Given the description of an element on the screen output the (x, y) to click on. 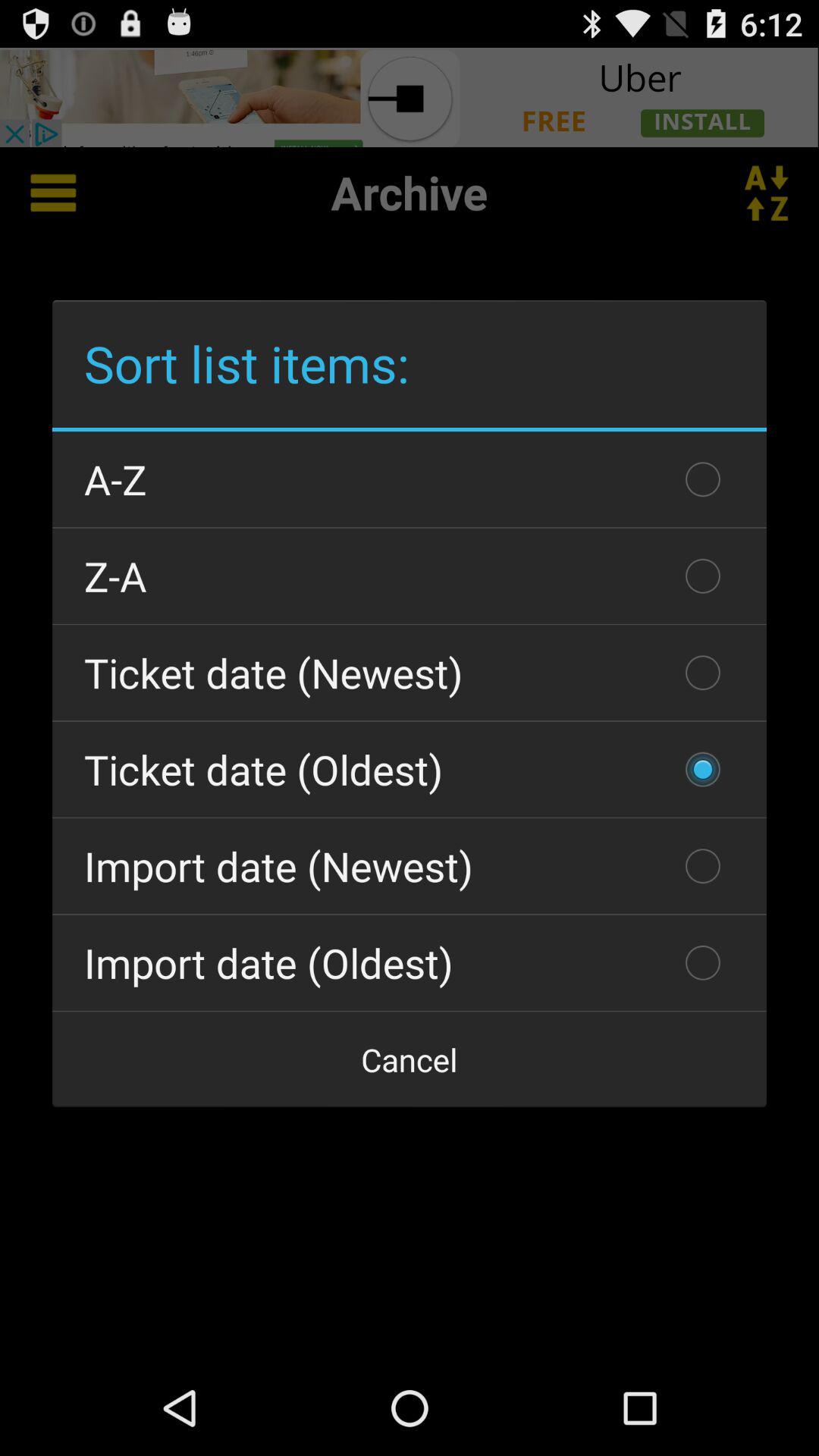
turn on the icon below the import date (oldest) checkbox (409, 1059)
